Given the description of an element on the screen output the (x, y) to click on. 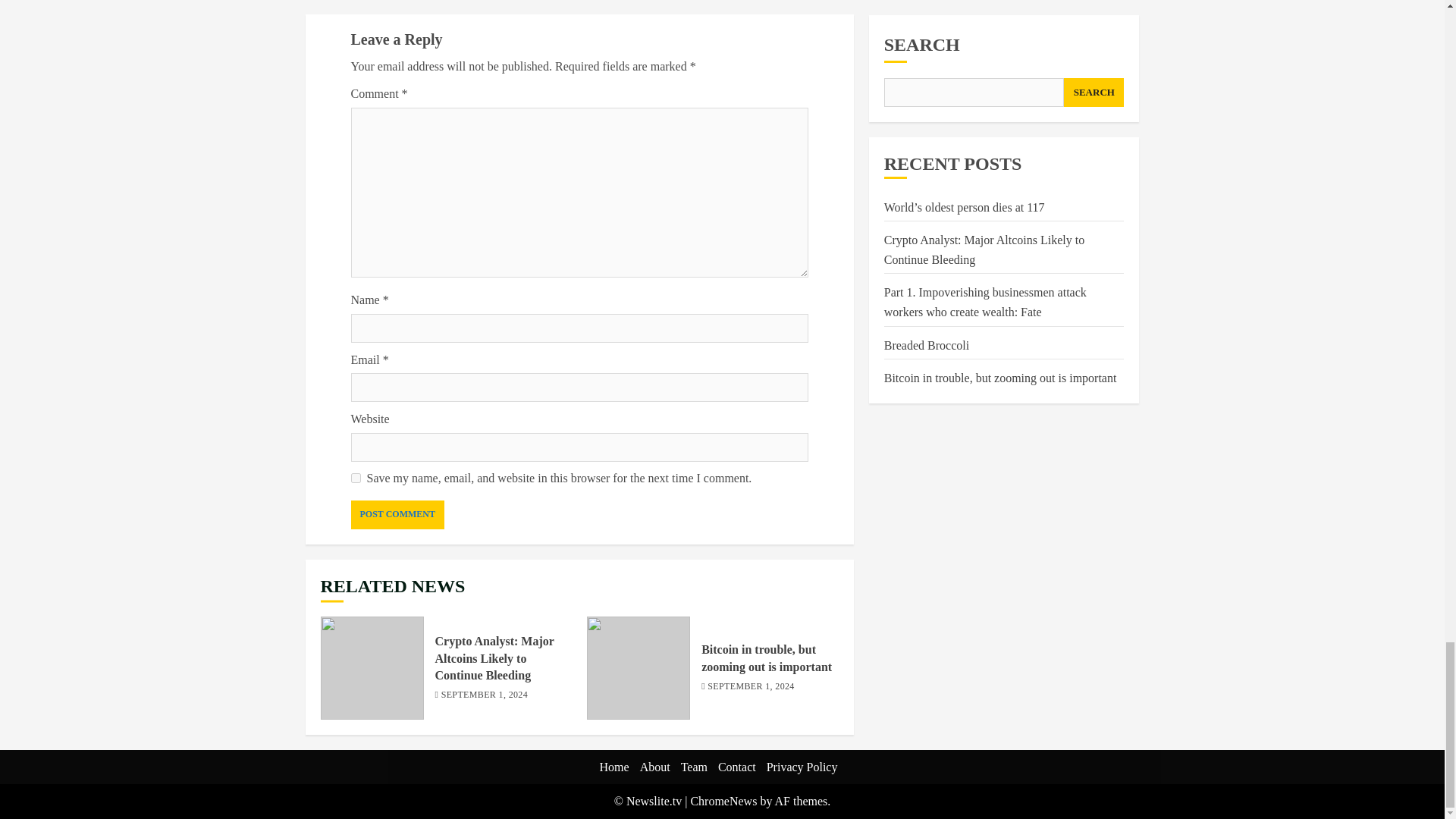
SEPTEMBER 1, 2024 (484, 695)
Bitcoin in trouble, but zooming out is important (638, 667)
About (654, 766)
Privacy Policy (802, 766)
SEPTEMBER 1, 2024 (750, 686)
yes (354, 478)
Contact (736, 766)
Team (694, 766)
Crypto Analyst: Major Altcoins Likely to Continue Bleeding (494, 658)
Crypto Analyst: Major Altcoins Likely to Continue Bleeding (371, 667)
